Given the description of an element on the screen output the (x, y) to click on. 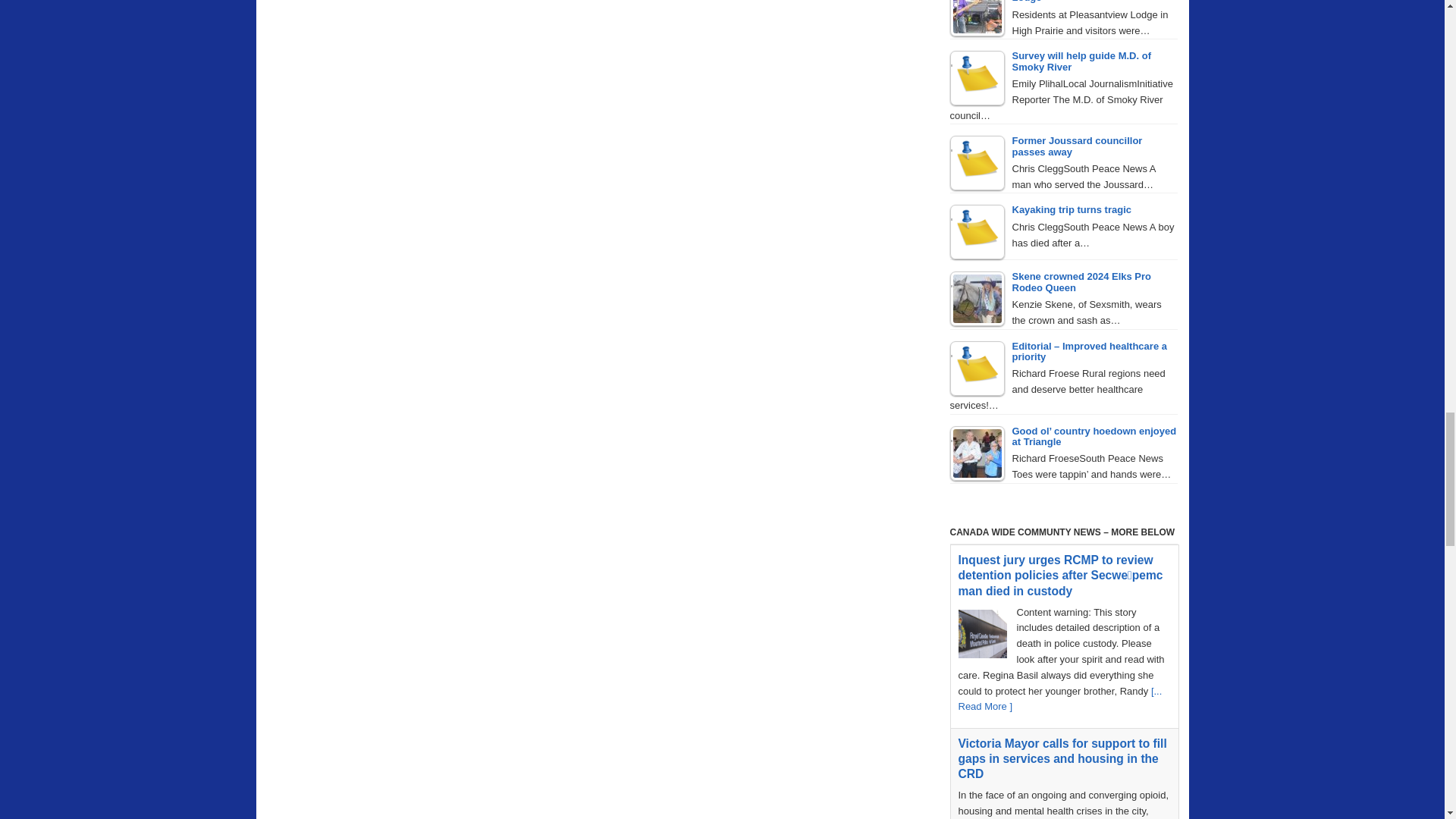
Kayaking trip turns tragic (976, 231)
Survey will help guide M.D. of Smoky River (976, 77)
Editorial - Improved healthcare a priority (976, 368)
Former Joussard councillor passes away (976, 162)
Skene crowned 2024 Elks Pro Rodeo Queen (976, 298)
